Given the description of an element on the screen output the (x, y) to click on. 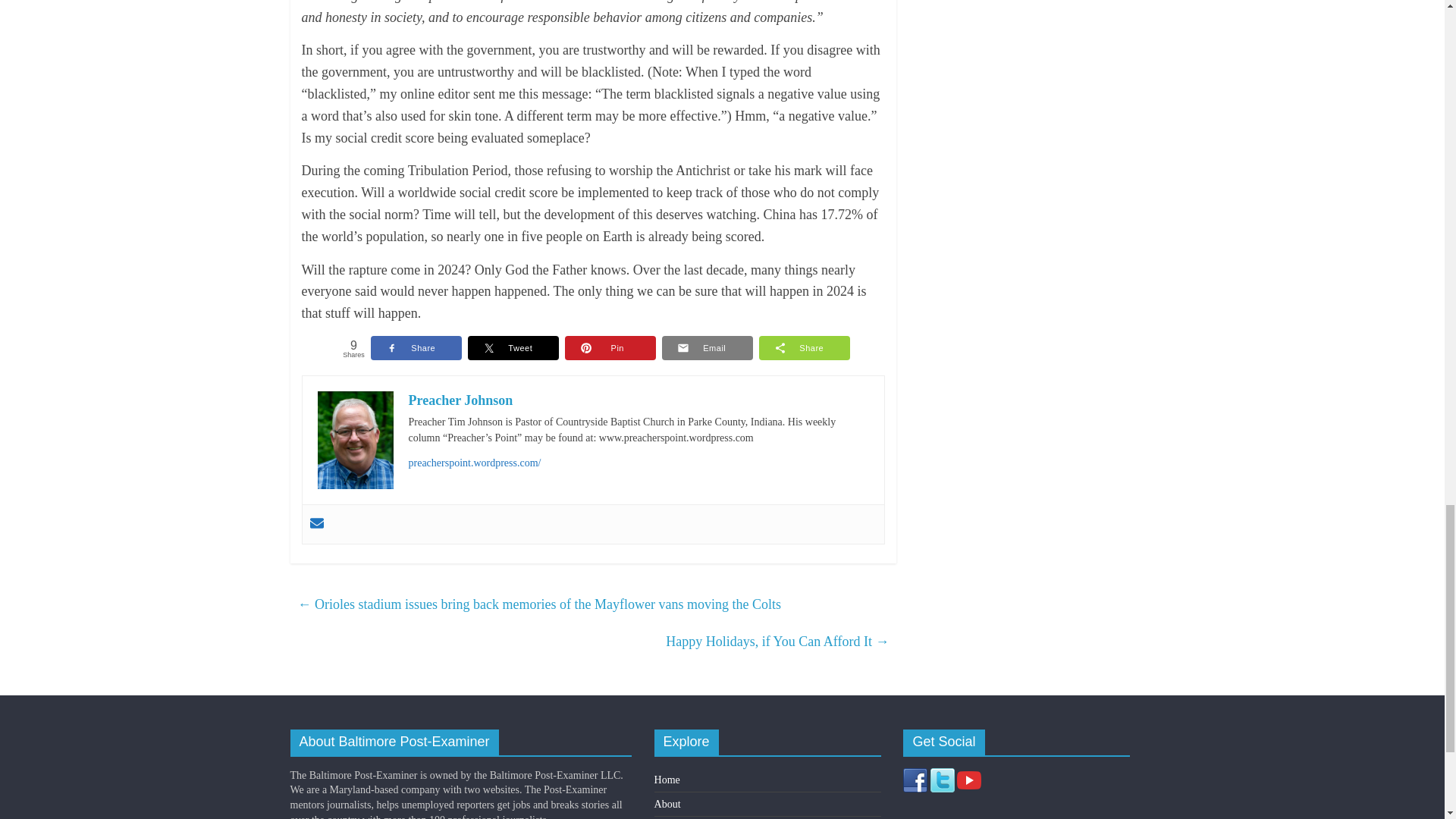
Preacher Johnson (459, 400)
